Given the description of an element on the screen output the (x, y) to click on. 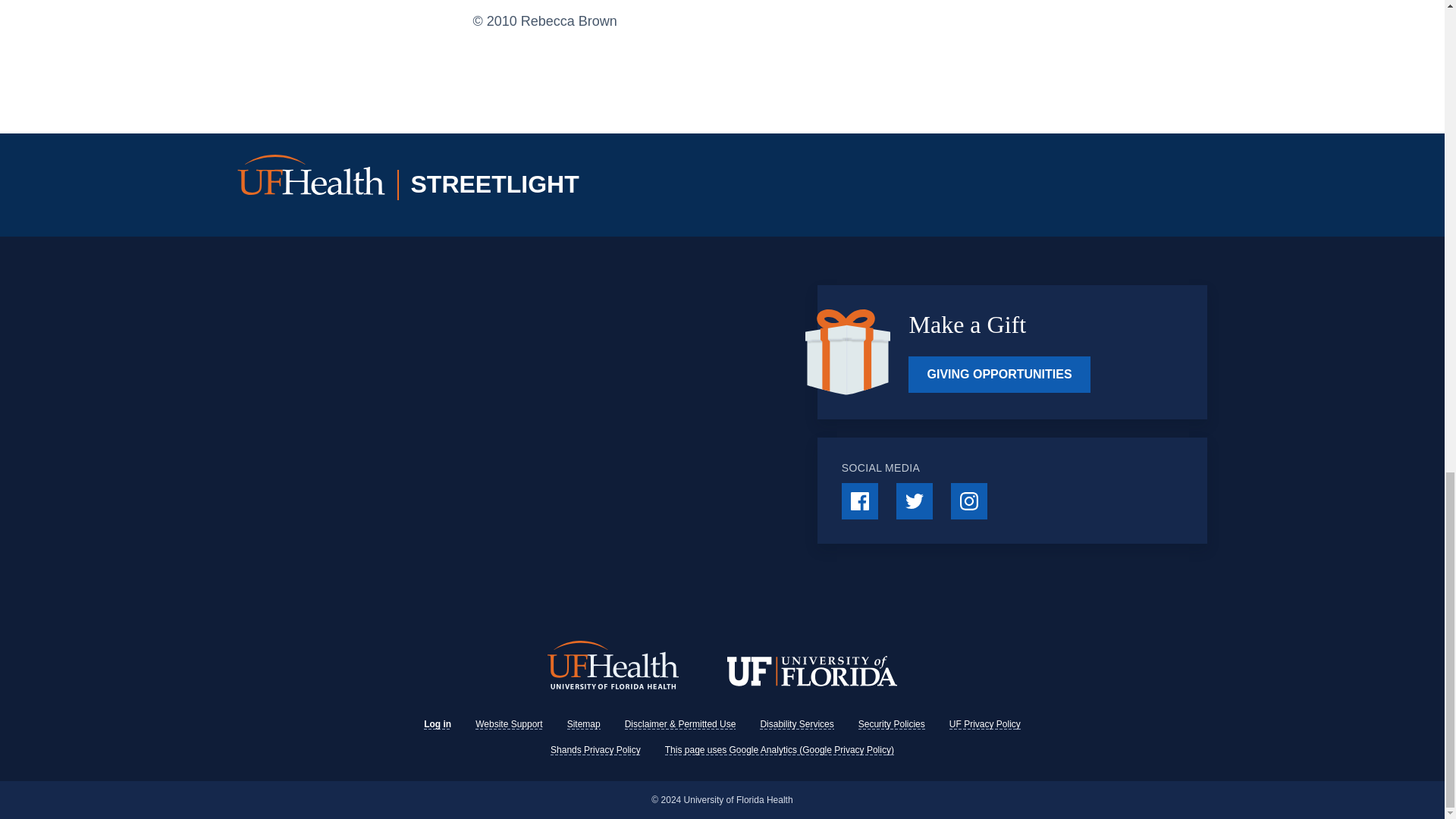
Security Policies (891, 724)
Log in (437, 724)
Disability Services (796, 724)
Sitemap (583, 724)
Website Support (509, 724)
Shands Privacy Policy (595, 749)
UF Privacy Policy (984, 724)
